Given the description of an element on the screen output the (x, y) to click on. 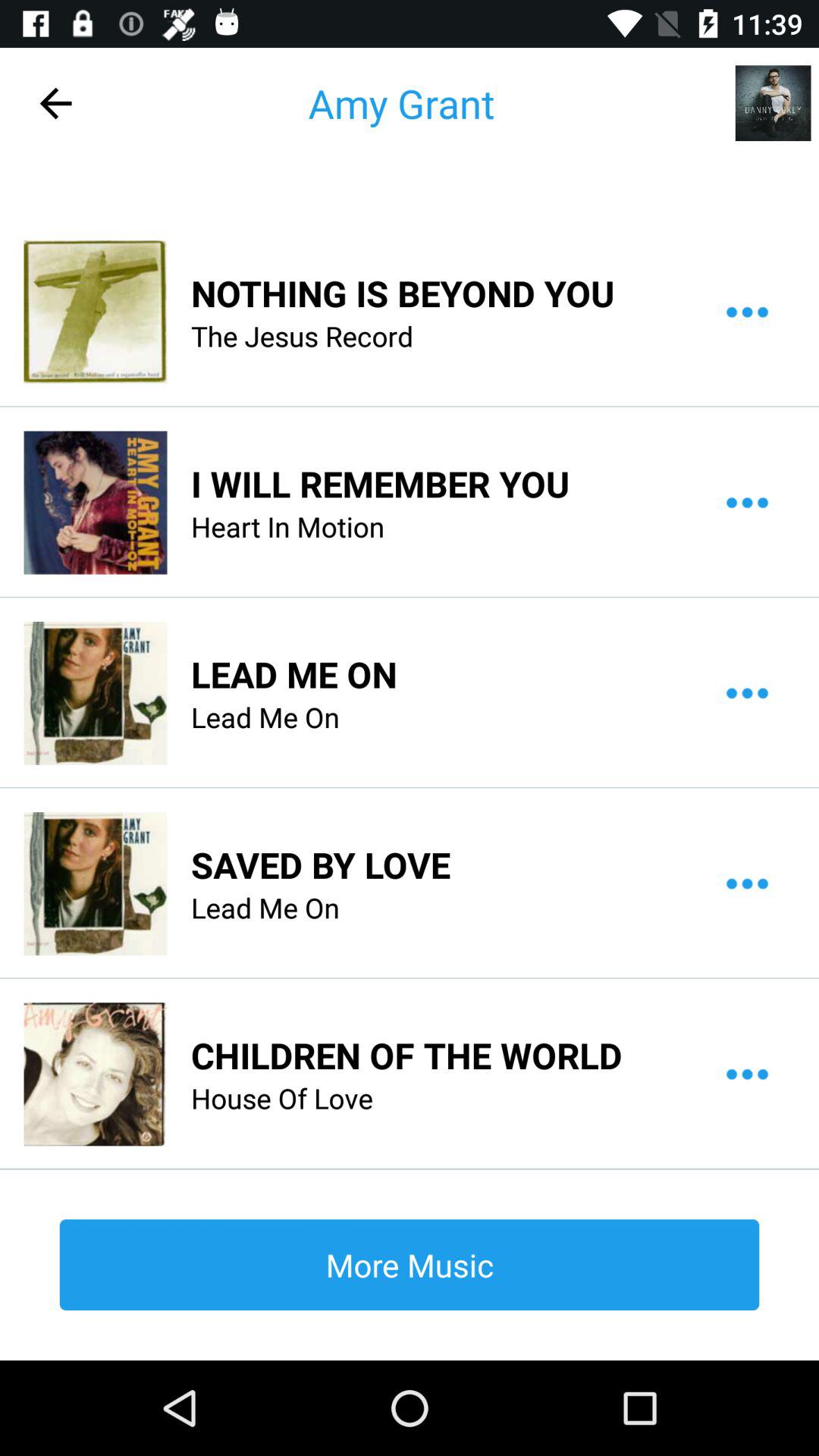
turn off more music icon (409, 1264)
